Given the description of an element on the screen output the (x, y) to click on. 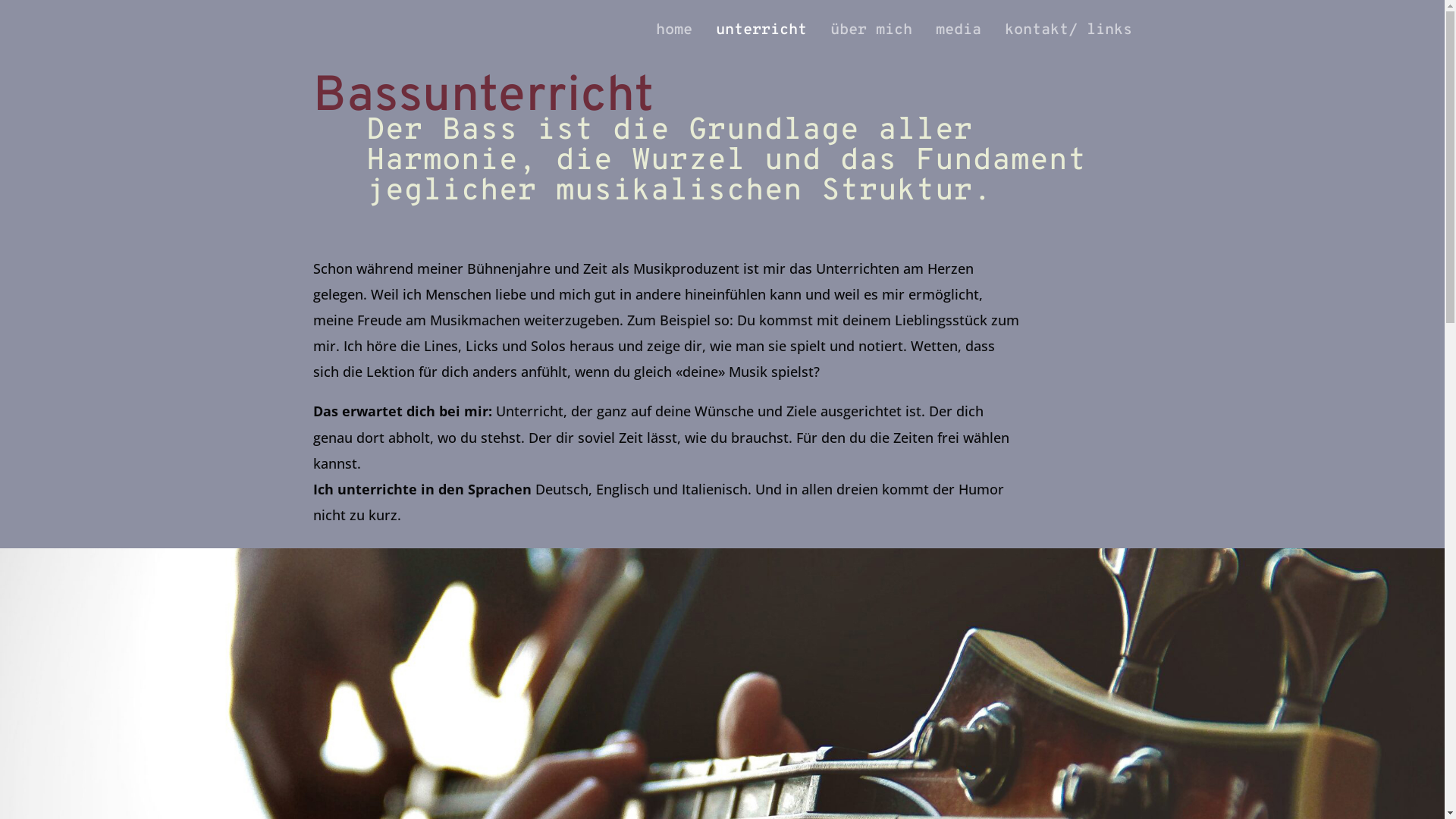
unterricht Element type: text (760, 42)
kontakt/ links Element type: text (1067, 42)
home Element type: text (673, 42)
media Element type: text (958, 42)
